Given the description of an element on the screen output the (x, y) to click on. 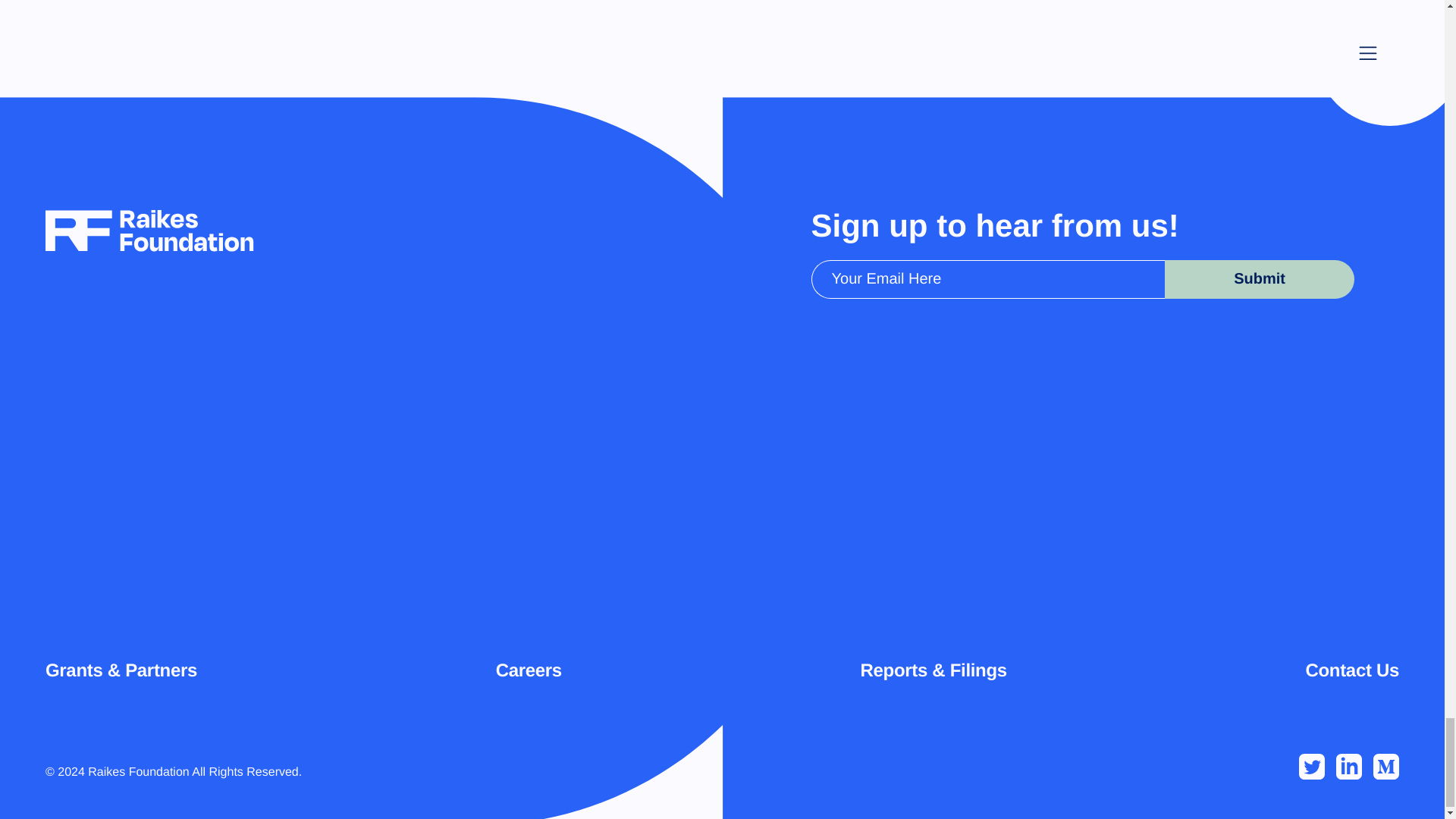
Submit (1259, 279)
Careers (529, 671)
Linked In (1348, 766)
Medium (1386, 766)
Contact Us (1351, 671)
Twitter (1311, 766)
